Given the description of an element on the screen output the (x, y) to click on. 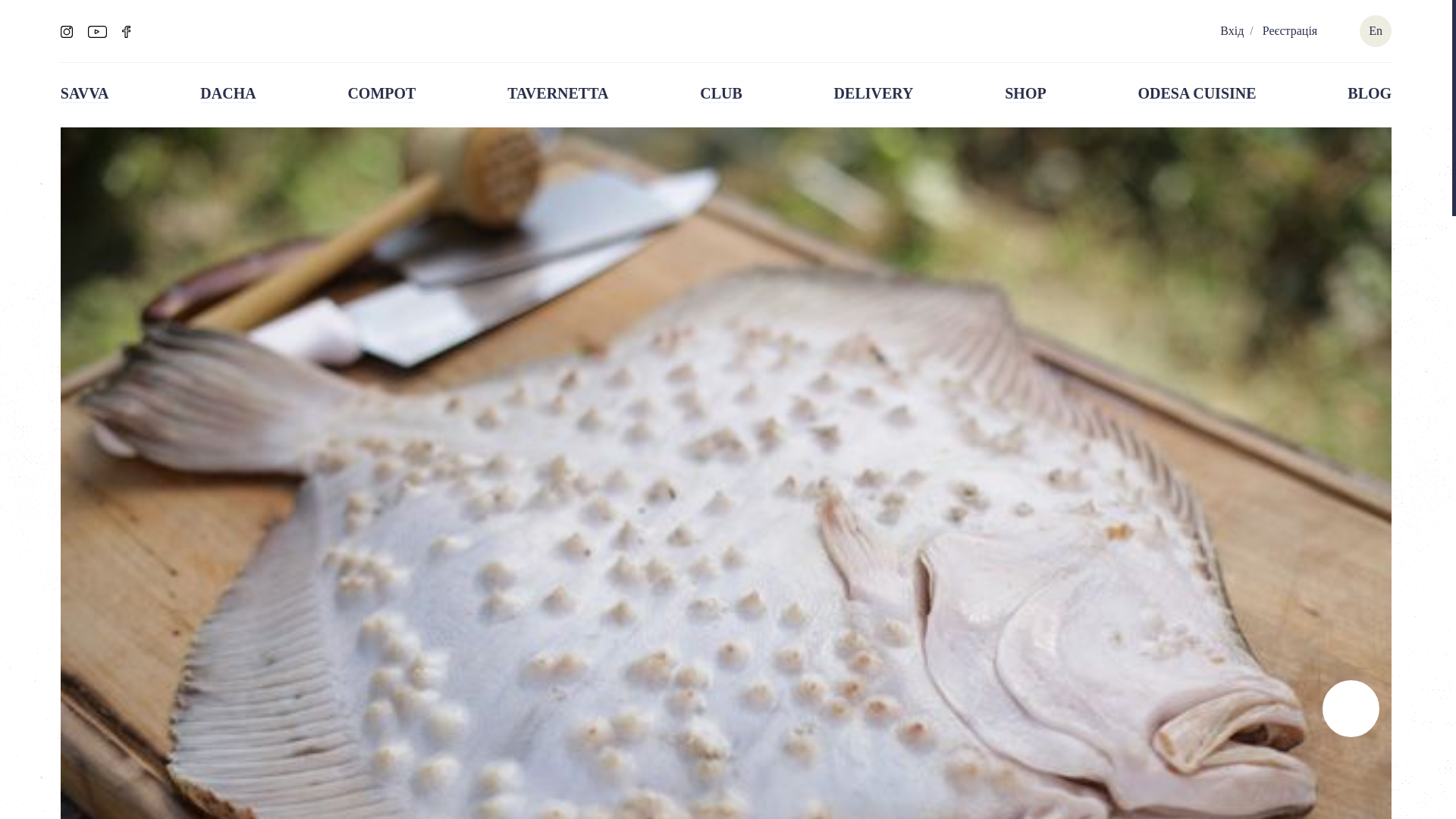
CLUB (721, 93)
BLOG (1369, 93)
ODESA CUISINE (1196, 93)
En (1374, 30)
DELIVERY (874, 93)
DACHA (228, 93)
SHOP (1024, 93)
COMPOT (380, 93)
SAVVA (85, 93)
TAVERNETTA (557, 93)
